Given the description of an element on the screen output the (x, y) to click on. 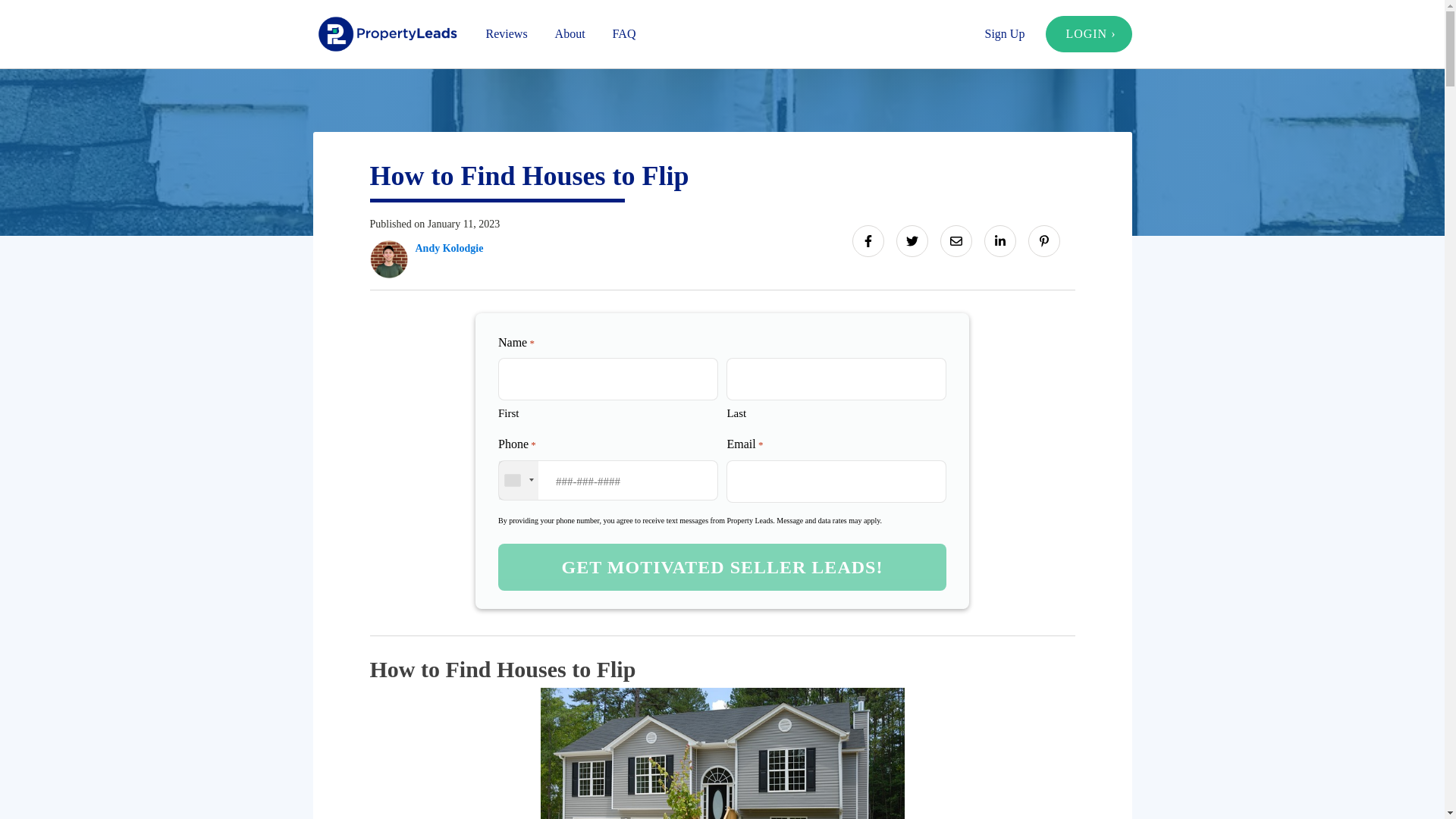
Pin it (1043, 241)
Andy Kolodgie (448, 248)
FAQ (623, 33)
About (569, 33)
Share via Email (956, 241)
GET MOTIVATED SELLER LEADS! (721, 566)
Sign Up (1004, 33)
Reviews (505, 33)
Share on Facebook (867, 241)
GET MOTIVATED SELLER LEADS! (721, 566)
Share on LinkedIn (1000, 241)
Share on Twitter (912, 241)
